Given the description of an element on the screen output the (x, y) to click on. 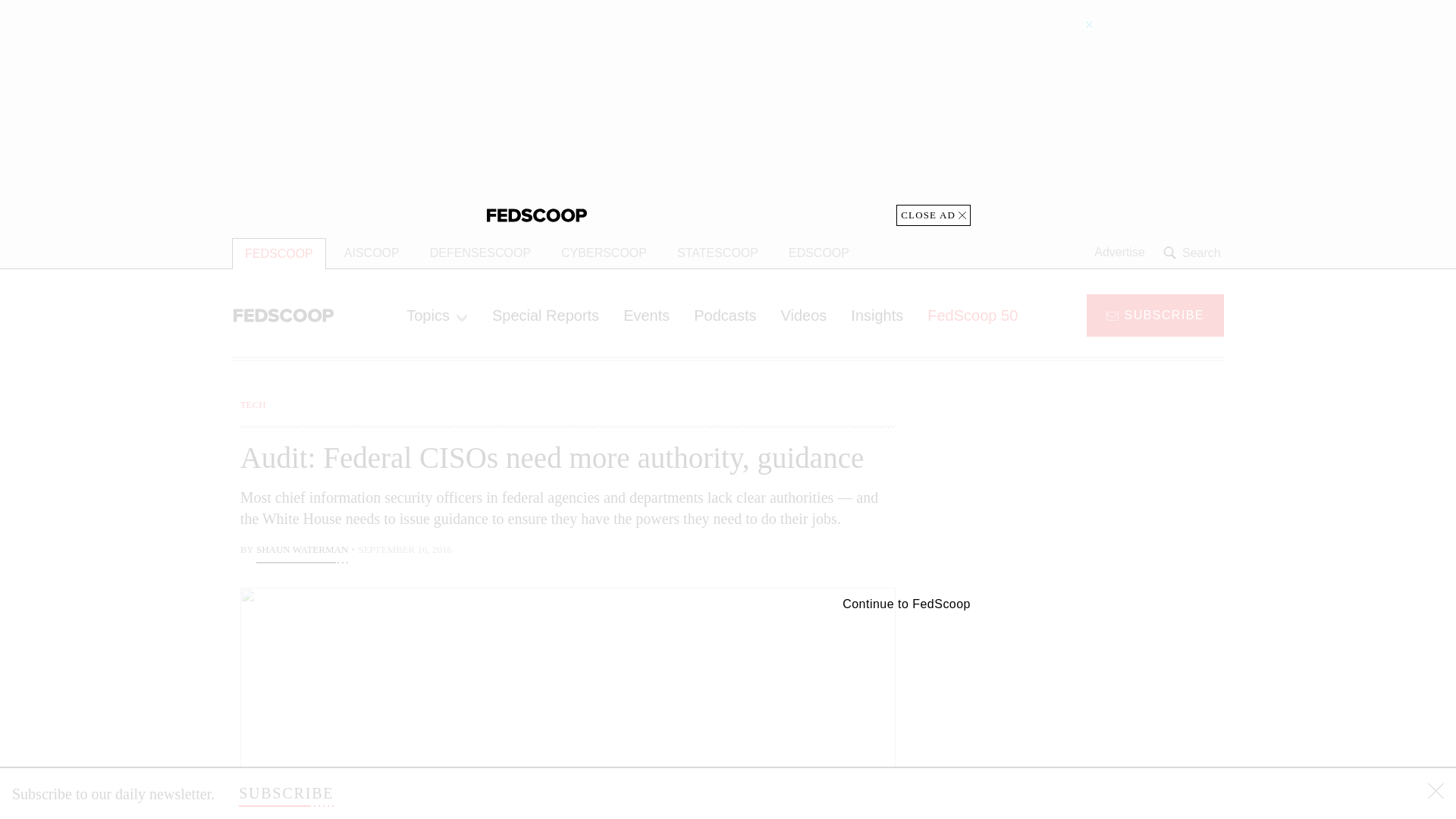
AISCOOP (371, 253)
FedScoop 50 (972, 315)
Podcasts (724, 315)
Advertise (1119, 252)
EDSCOOP (818, 253)
DEFENSESCOOP (480, 253)
FEDSCOOP (278, 253)
3rd party ad content (1101, 705)
Events (646, 315)
SUBSCRIBE (1155, 314)
SHAUN WATERMAN (301, 550)
TECH (253, 404)
Topics (437, 315)
SUBSCRIBE (285, 793)
